Given the description of an element on the screen output the (x, y) to click on. 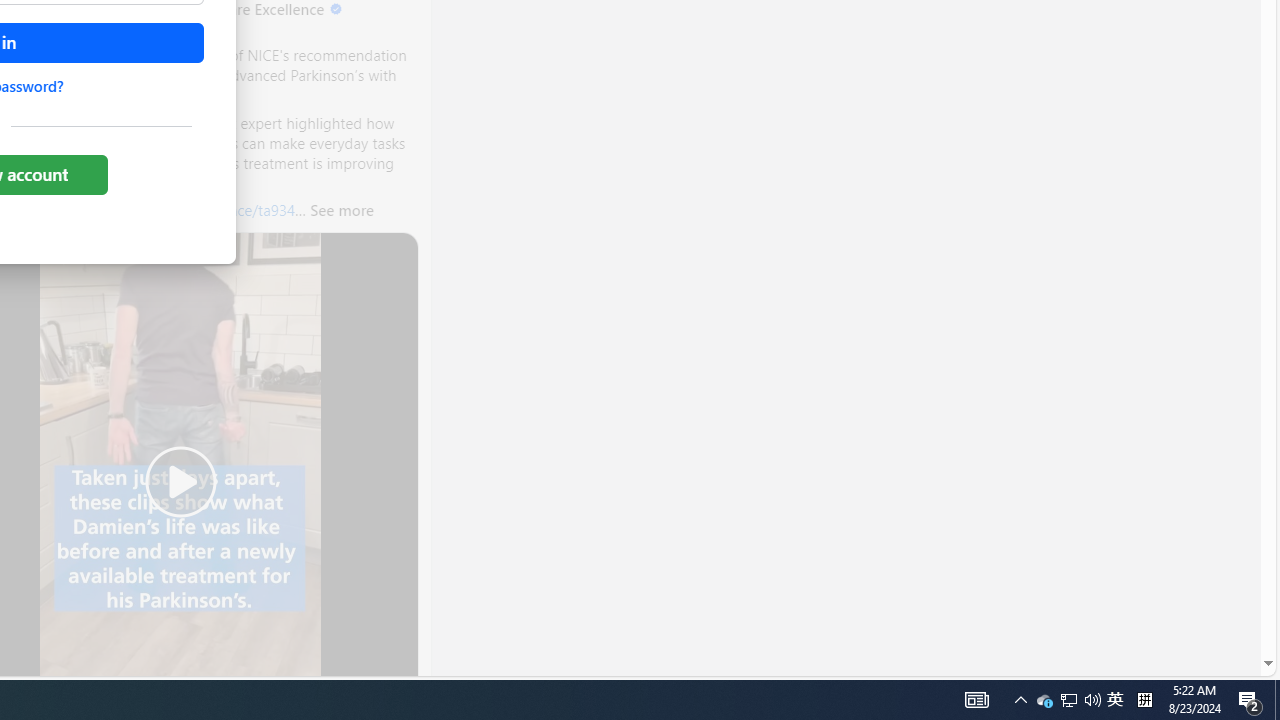
User Promoted Notification Area (1069, 699)
AutomationID: 4105 (1068, 699)
Show desktop (1044, 699)
Action Center, 2 new notifications (1115, 699)
Tray Input Indicator - Chinese (Simplified, China) (976, 699)
Q2790: 100% (1277, 699)
Notification Chevron (1250, 699)
